Given the description of an element on the screen output the (x, y) to click on. 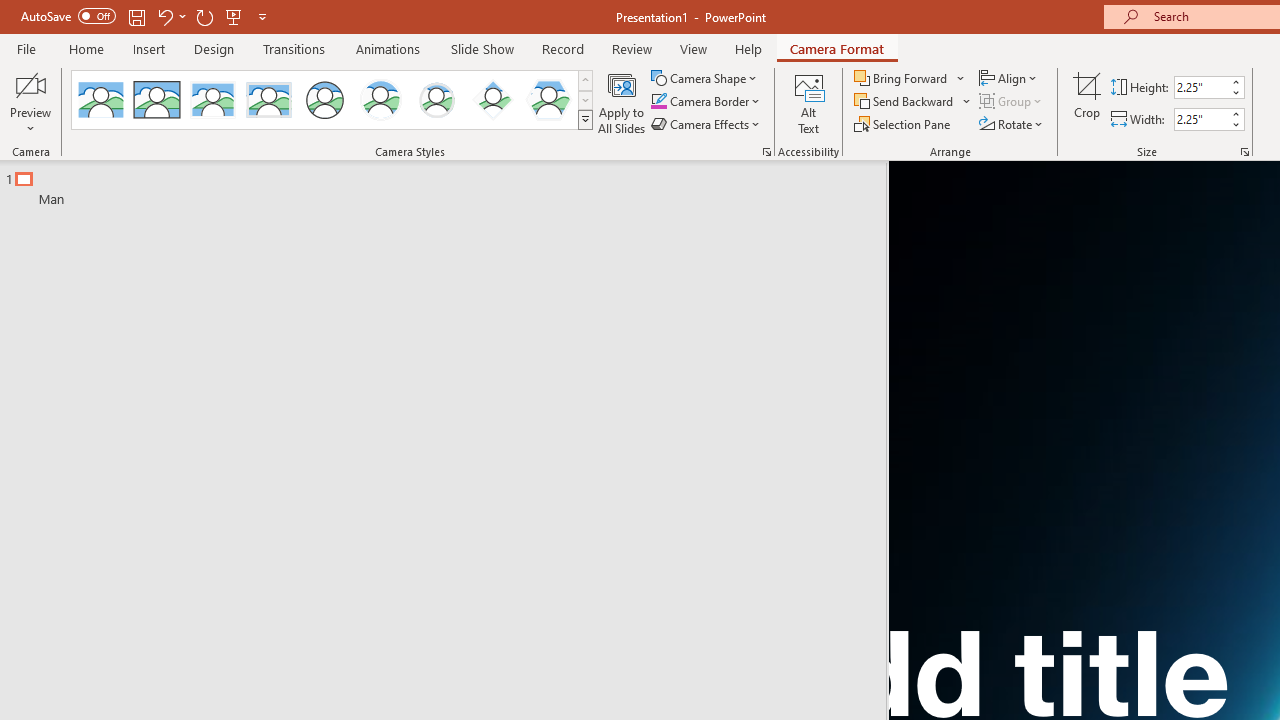
Apply to All Slides (621, 102)
Cameo Height (1201, 87)
Camera Border Blue, Accent 1 (658, 101)
Enable Camera Preview (30, 84)
Simple Frame Rectangle (157, 100)
